Given the description of an element on the screen output the (x, y) to click on. 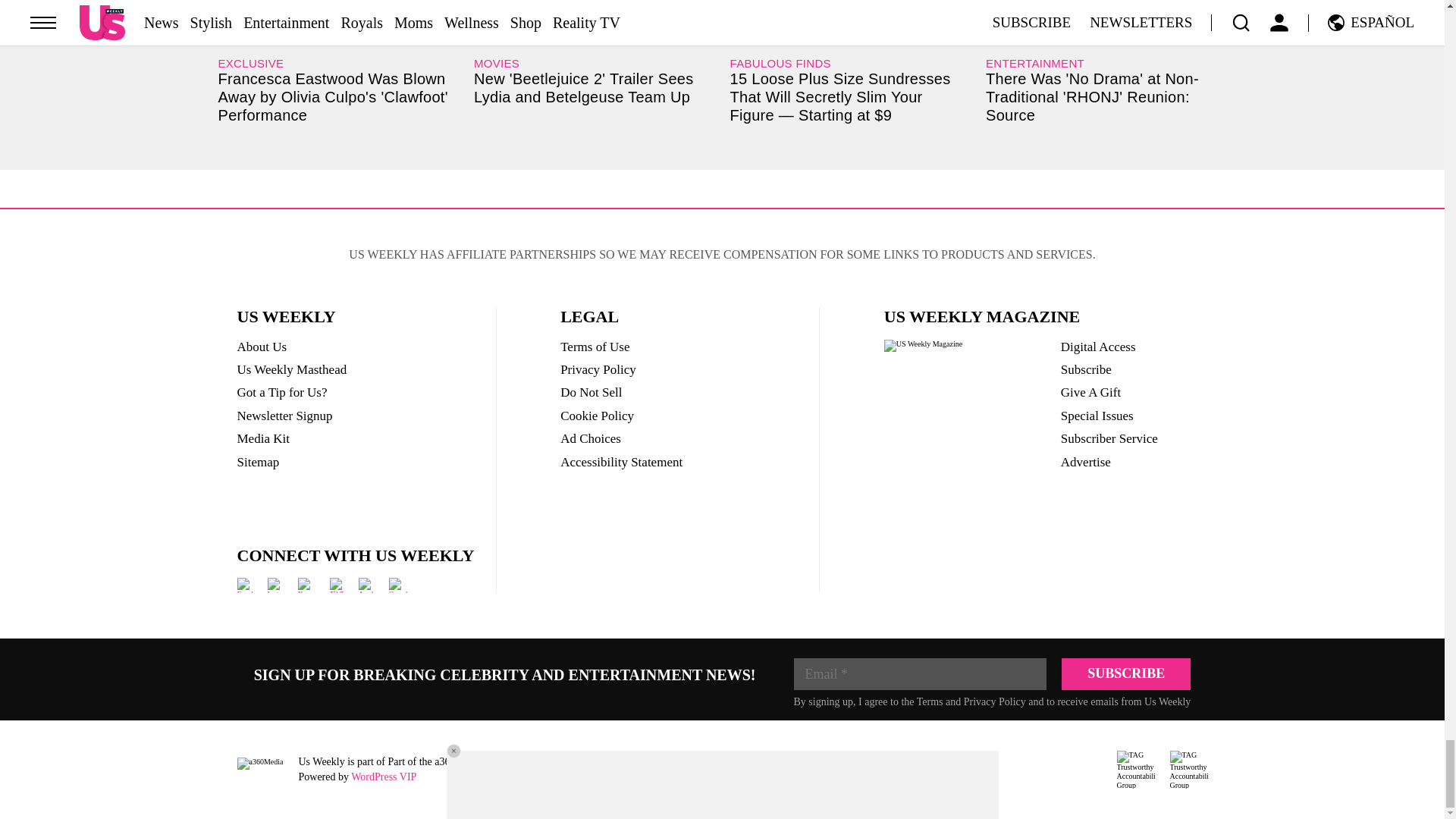
TAG Registered (1135, 769)
TAG Certified Against Fraud (1188, 769)
